Given the description of an element on the screen output the (x, y) to click on. 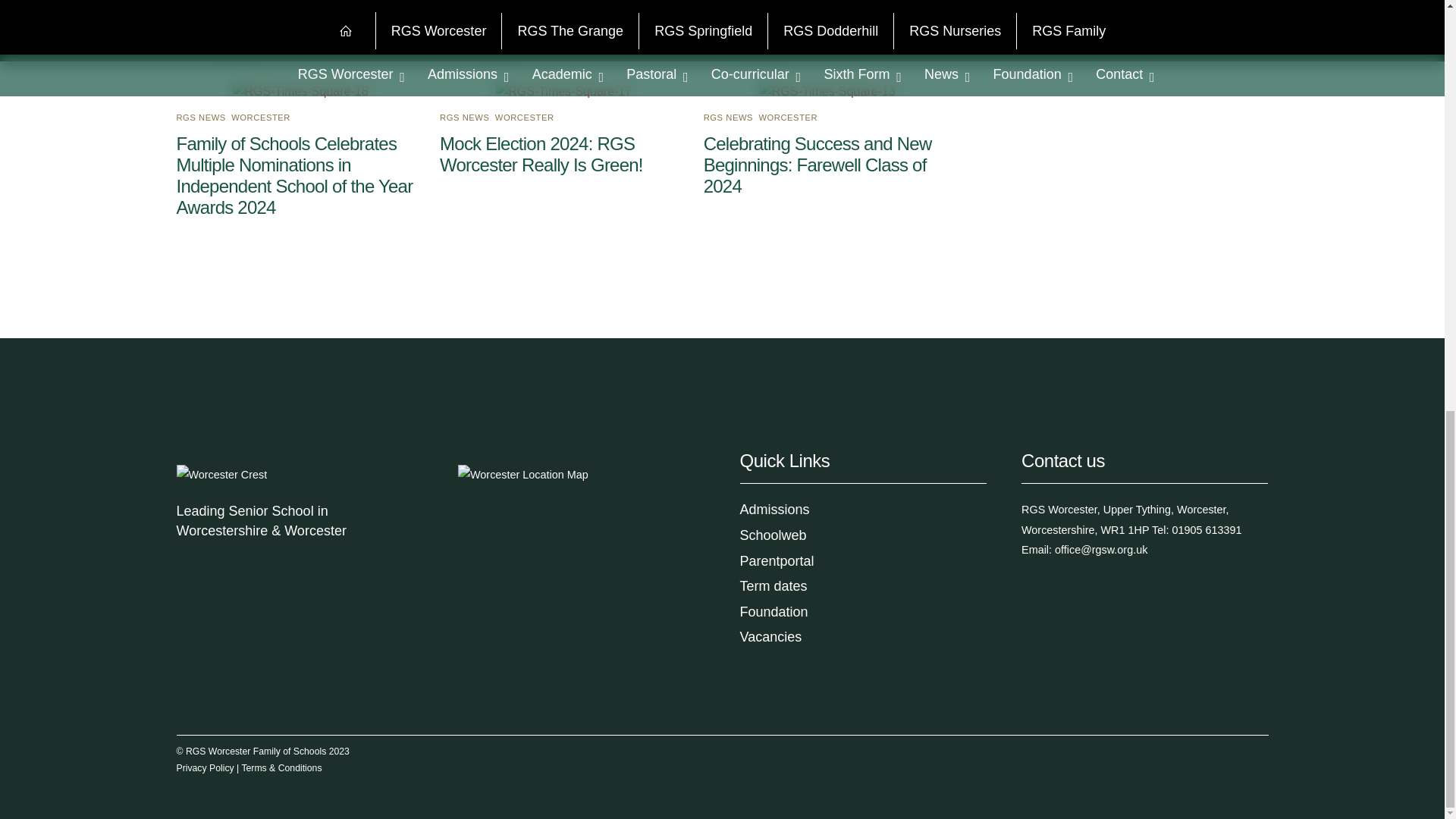
RGS-Times-Square-18 (300, 91)
RGS-Times-Square-13 (827, 91)
RGS-Times-Square-17 (563, 91)
